Given the description of an element on the screen output the (x, y) to click on. 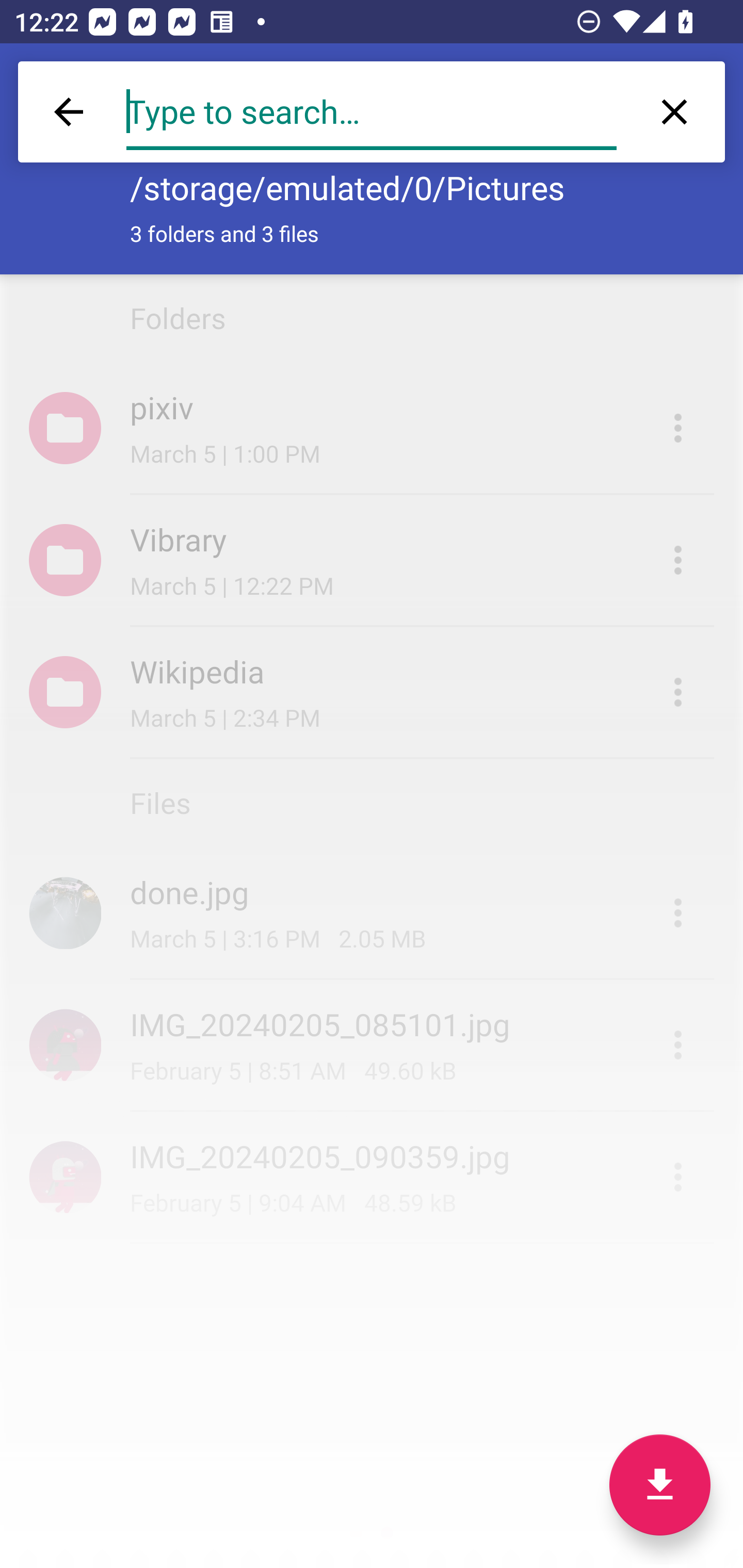
Type to search… (371, 112)
pixiv March 5 | 1:00 PM (371, 427)
Vibrary March 5 | 12:22 PM (371, 560)
Wikipedia March 5 | 2:34 PM (371, 692)
icon done.jpg March 5 | 3:16 PM 2.05 MB (371, 913)
icon (64, 912)
icon (64, 1044)
icon (64, 1177)
